Given the description of an element on the screen output the (x, y) to click on. 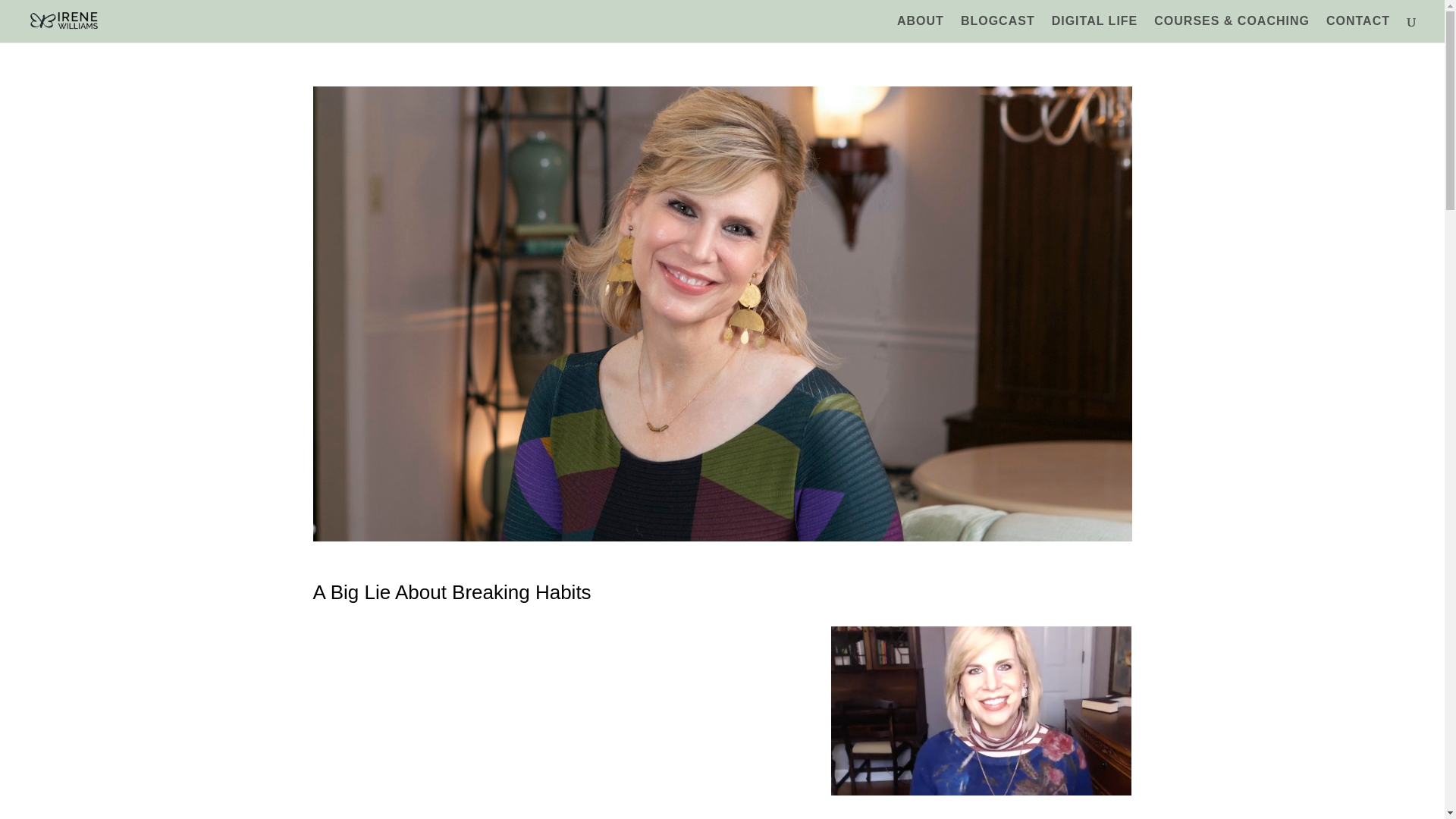
ABOUT (919, 28)
Screen Shot 2020-03-29 at 10.51.37 AM (981, 710)
CONTACT (1358, 28)
BLOGCAST (997, 28)
DIGITAL LIFE (1094, 28)
